Given the description of an element on the screen output the (x, y) to click on. 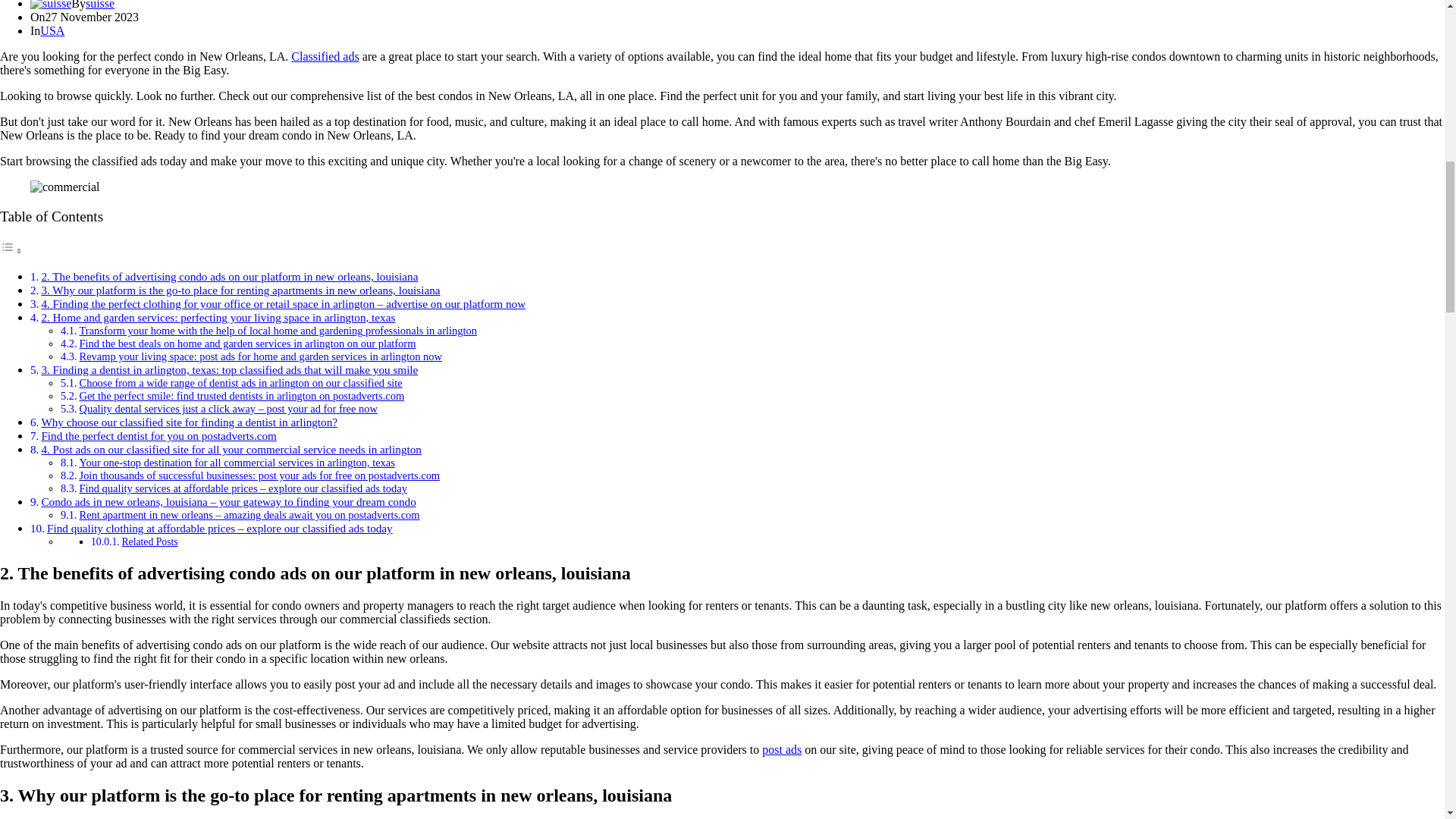
Posts tagged with Classified Ads (324, 56)
